Given the description of an element on the screen output the (x, y) to click on. 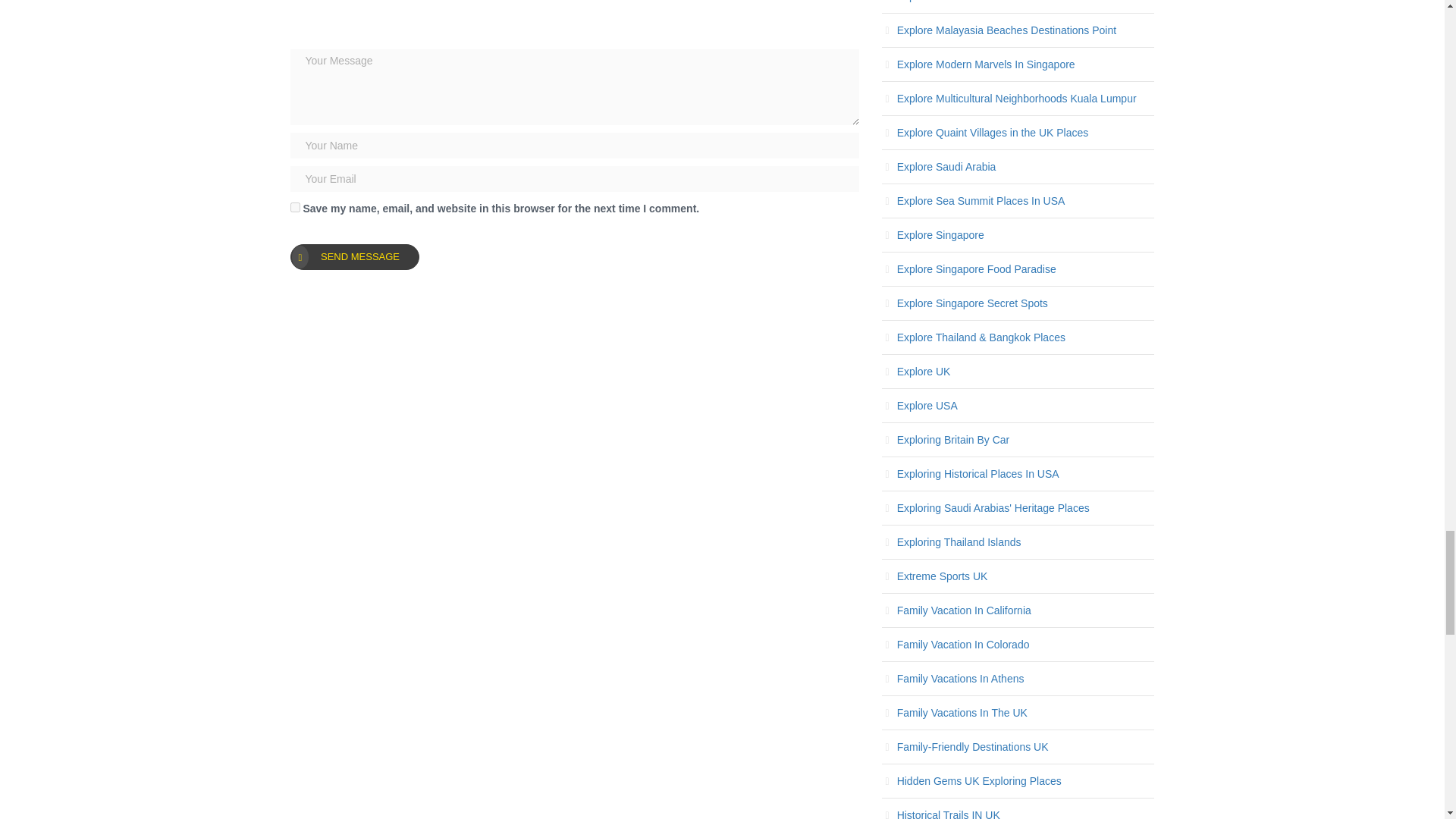
Connect with Twitter (410, 20)
SEND MESSAGE (354, 257)
yes (294, 207)
